Given the description of an element on the screen output the (x, y) to click on. 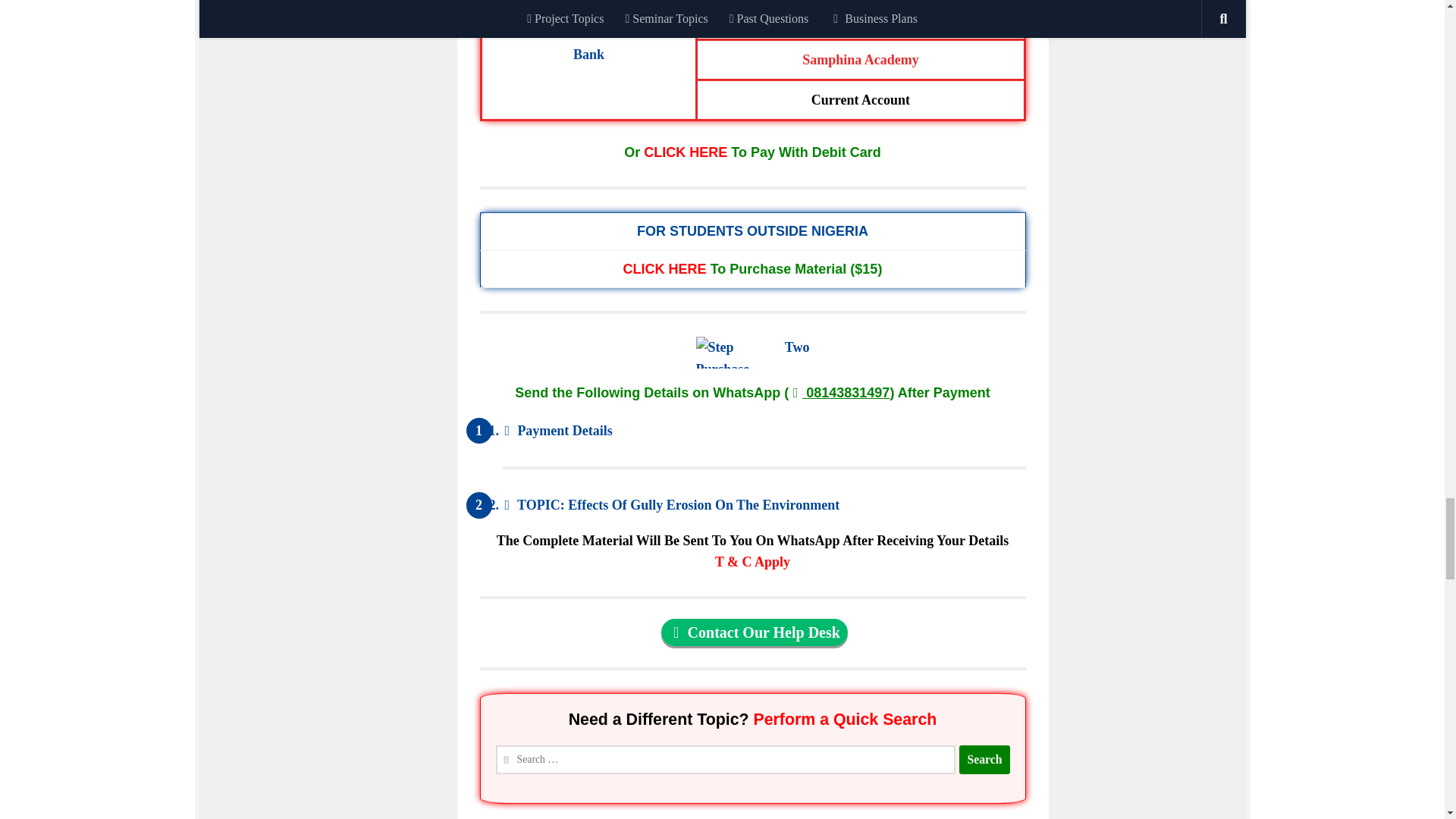
Contact Information Page (754, 632)
Search (984, 759)
08143831497 (839, 392)
Samphina Terms and Conditions (752, 561)
Search (984, 759)
CLICK HERE (684, 151)
Contact Our Help Desk (754, 632)
CLICK HERE (664, 267)
Search (984, 757)
